Given the description of an element on the screen output the (x, y) to click on. 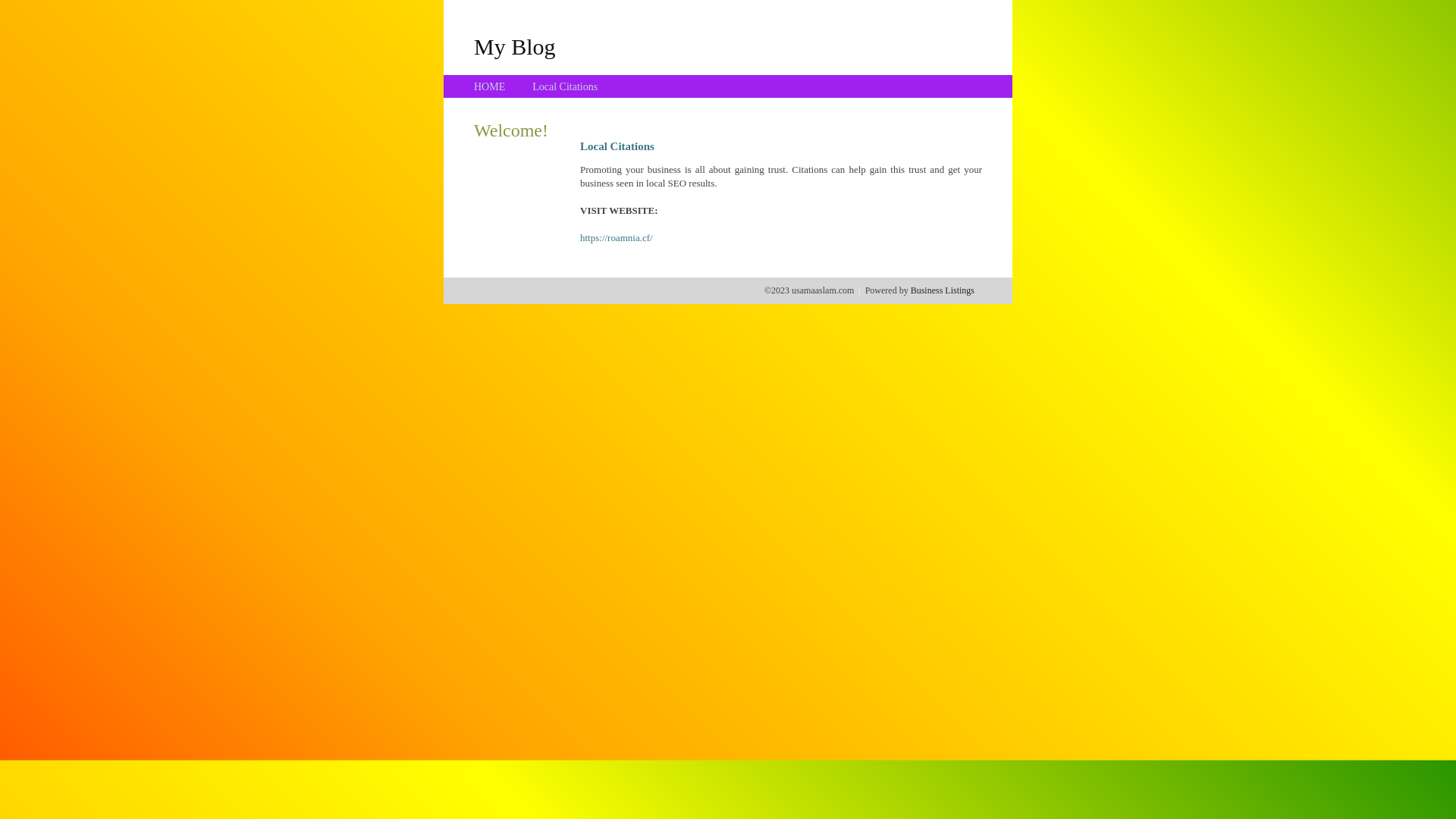
HOME Element type: text (489, 86)
https://roamnia.cf/ Element type: text (616, 237)
Business Listings Element type: text (942, 290)
Local Citations Element type: text (564, 86)
My Blog Element type: text (514, 46)
